Given the description of an element on the screen output the (x, y) to click on. 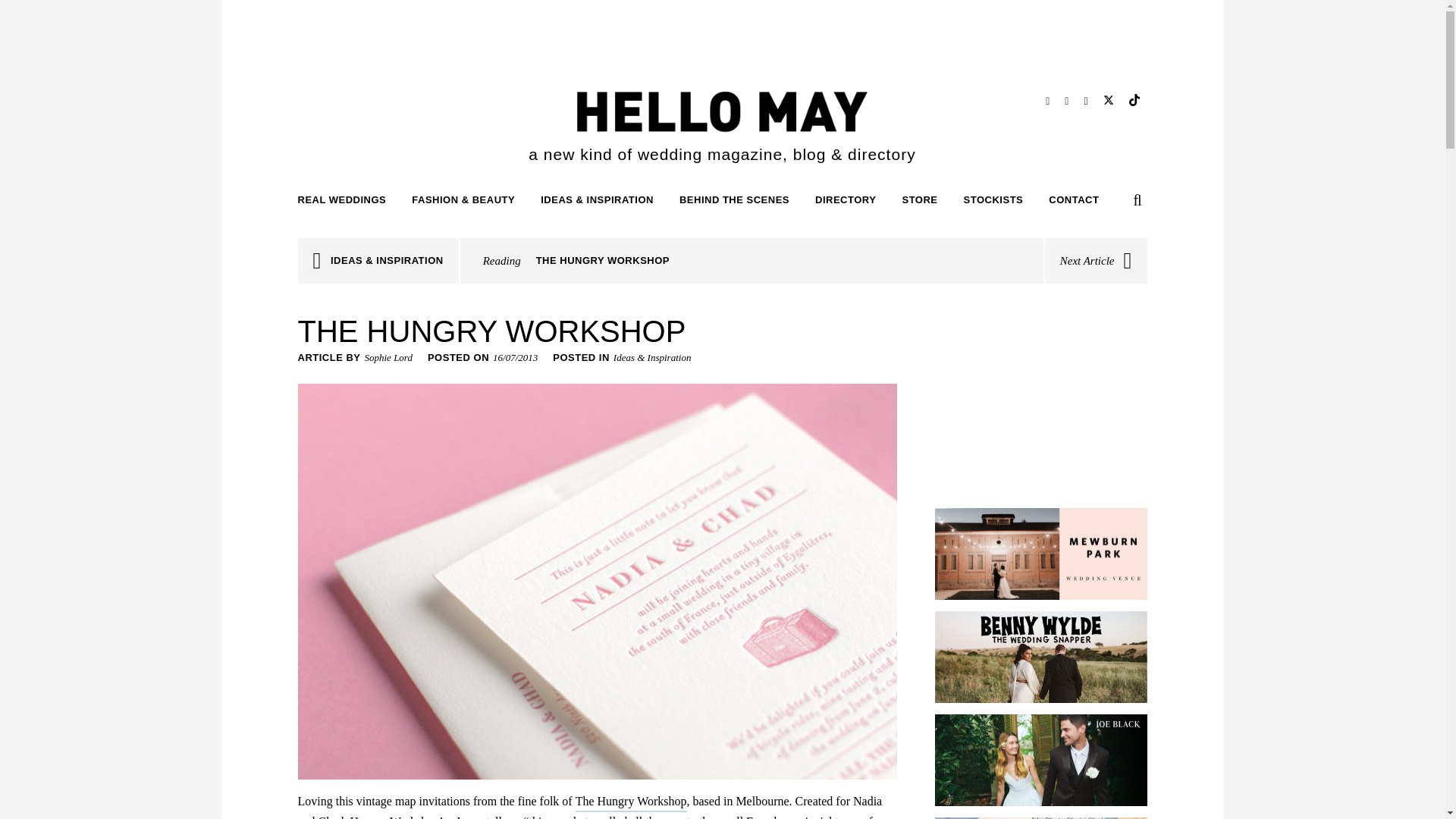
The Hungry Workshop (631, 801)
STOCKISTS (993, 199)
REAL WEDDINGS (345, 199)
STORE (918, 199)
Mewburn Park (1040, 553)
Next Article (1095, 260)
BEHIND THE SCENES (733, 199)
Benny Wylde (1040, 656)
DIRECTORY (845, 199)
CONTACT (1073, 199)
Joe Black (1040, 759)
